Given the description of an element on the screen output the (x, y) to click on. 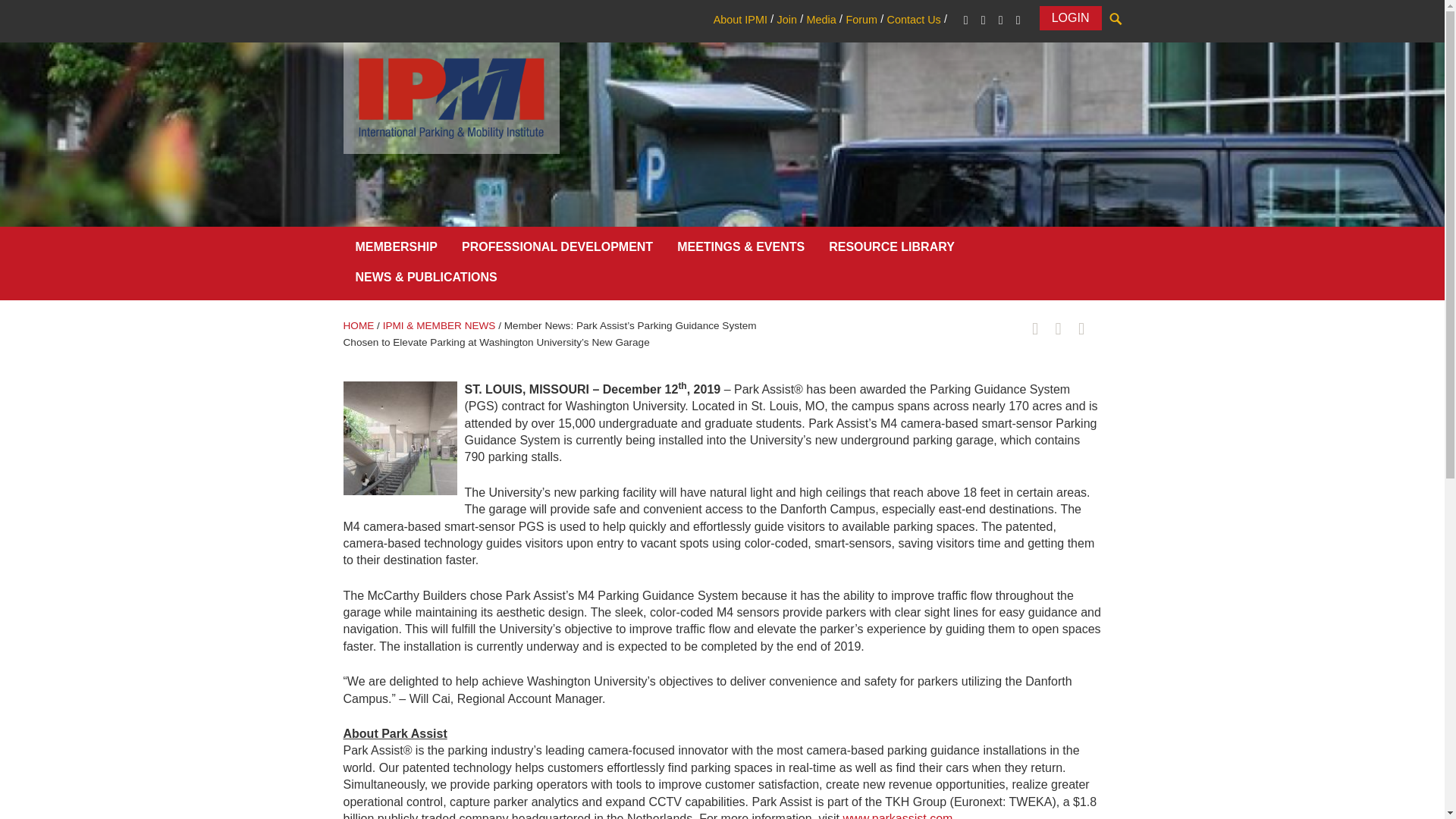
PROFESSIONAL DEVELOPMENT (557, 250)
Join (786, 19)
MEMBERSHIP (395, 250)
RESOURCE LIBRARY (891, 250)
Media (821, 19)
IPMI (450, 97)
LOGIN (1070, 17)
Forum (861, 19)
Contact Us (913, 19)
About IPMI (740, 19)
